Given the description of an element on the screen output the (x, y) to click on. 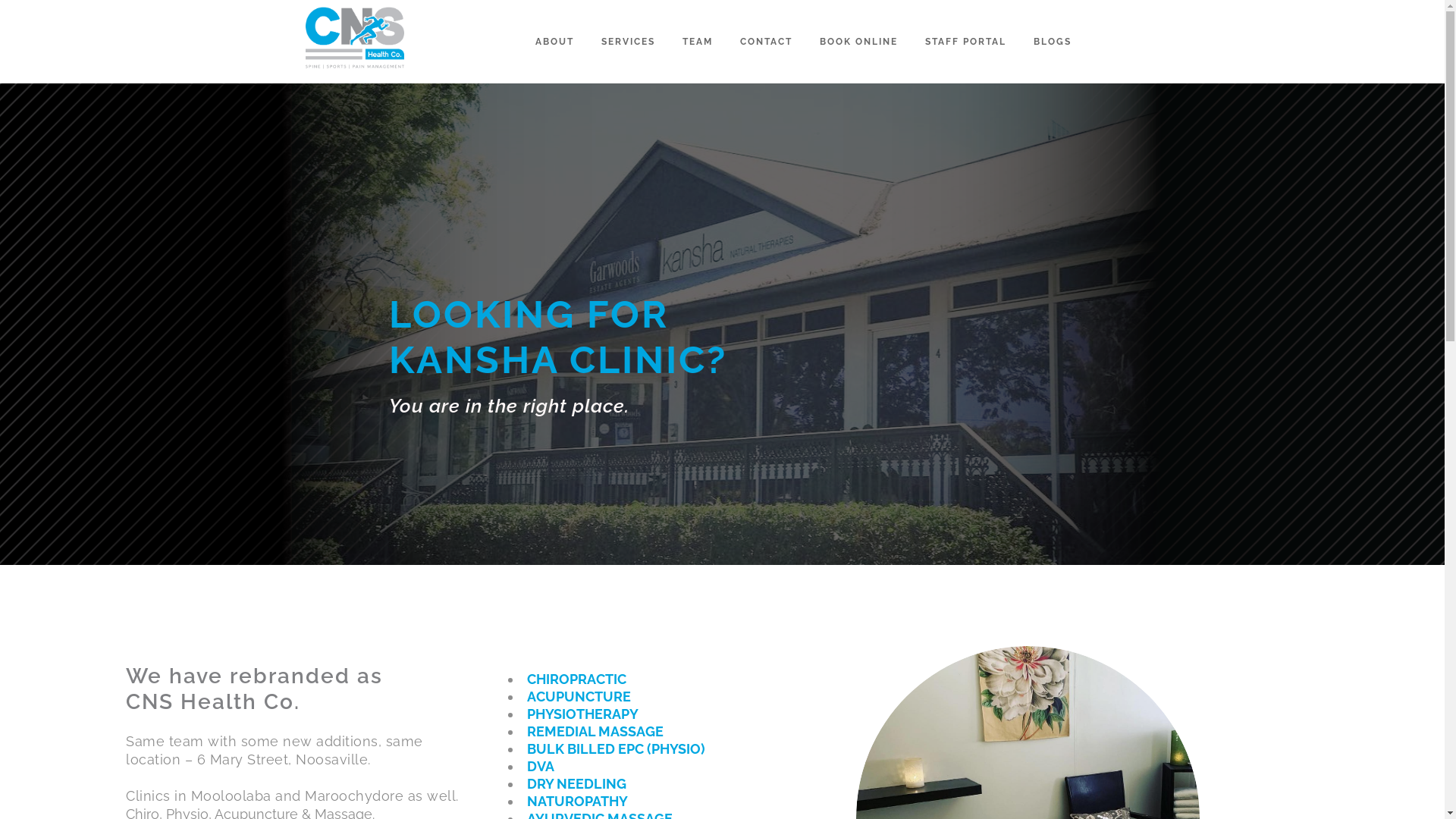
CONTACT Element type: text (766, 41)
ABOUT Element type: text (554, 41)
BLOGS Element type: text (1051, 41)
TEAM Element type: text (697, 41)
STAFF PORTAL Element type: text (965, 41)
BOOK ONLINE Element type: text (857, 41)
SERVICES Element type: text (627, 41)
